Given the description of an element on the screen output the (x, y) to click on. 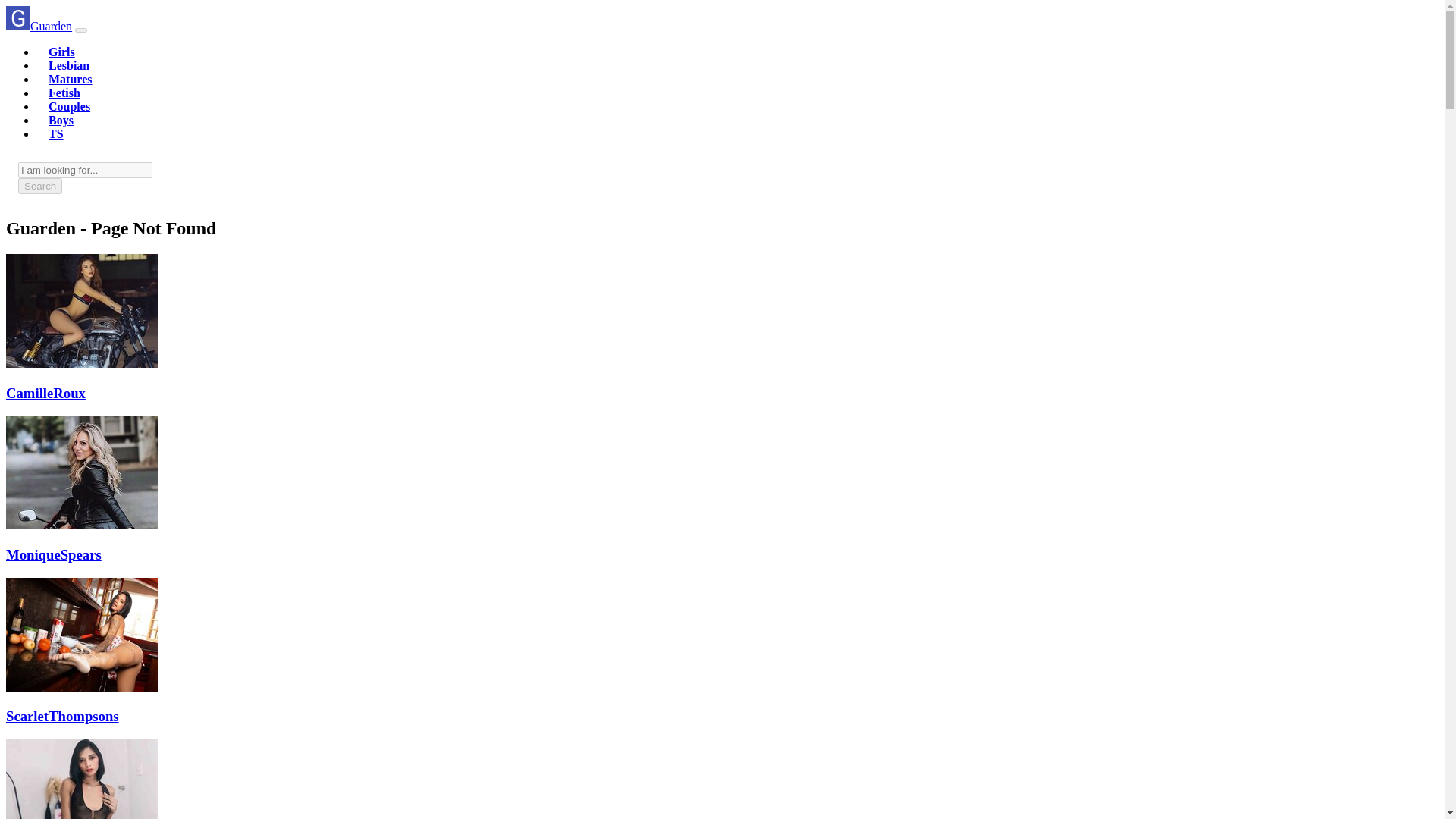
Guarden (38, 25)
Boys (61, 119)
TS (56, 133)
MoniqueSpears Free Naked Private (81, 524)
Girls (61, 51)
Girls (61, 51)
Matures (69, 78)
Fetish (64, 92)
Boys (61, 119)
Lesbian (68, 65)
